Given the description of an element on the screen output the (x, y) to click on. 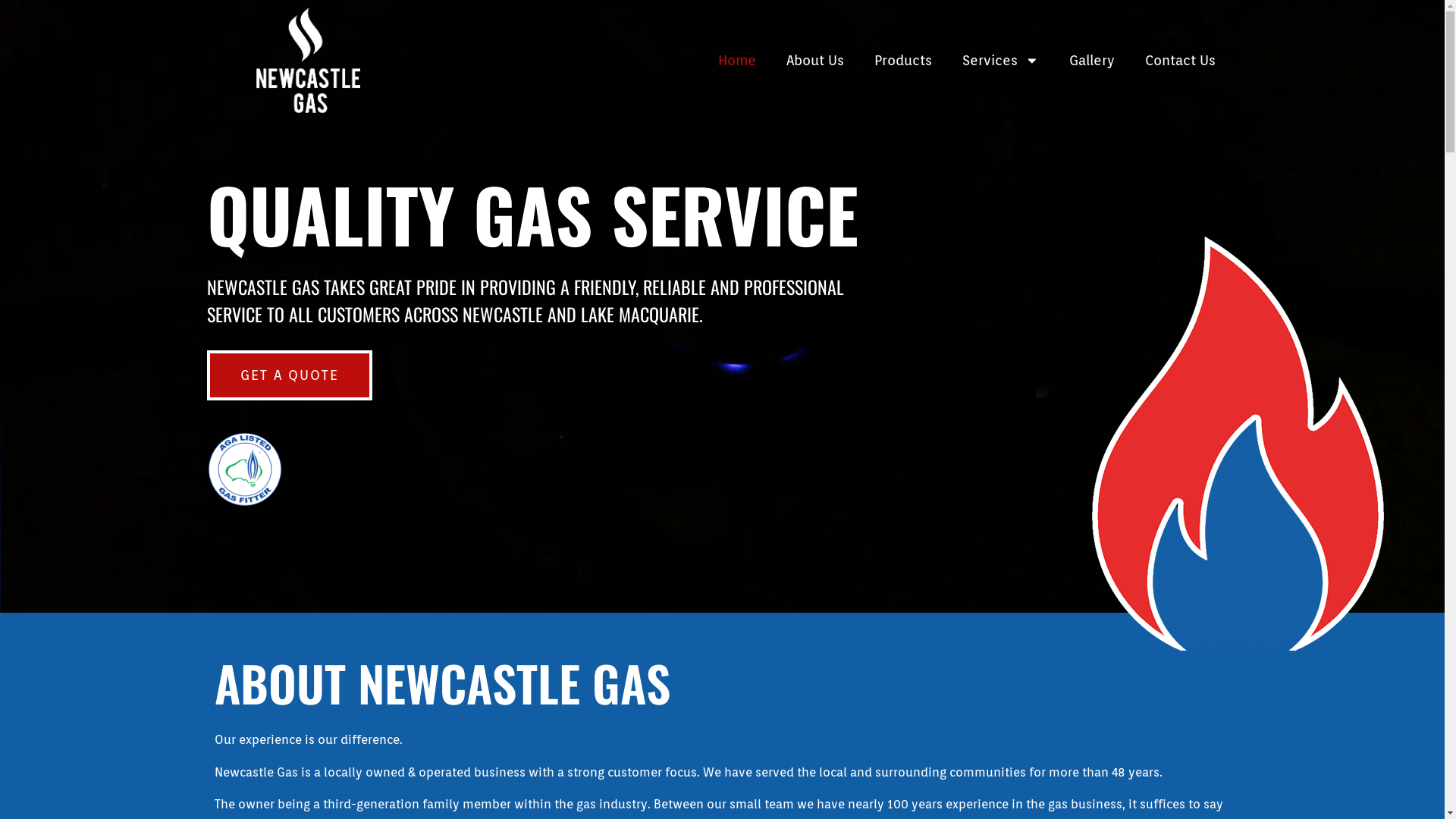
About Us Element type: text (815, 60)
Contact Us Element type: text (1179, 60)
Services Element type: text (1000, 60)
Home Element type: text (736, 60)
Products Element type: text (903, 60)
GET A QUOTE Element type: text (288, 375)
Gallery Element type: text (1091, 60)
